Given the description of an element on the screen output the (x, y) to click on. 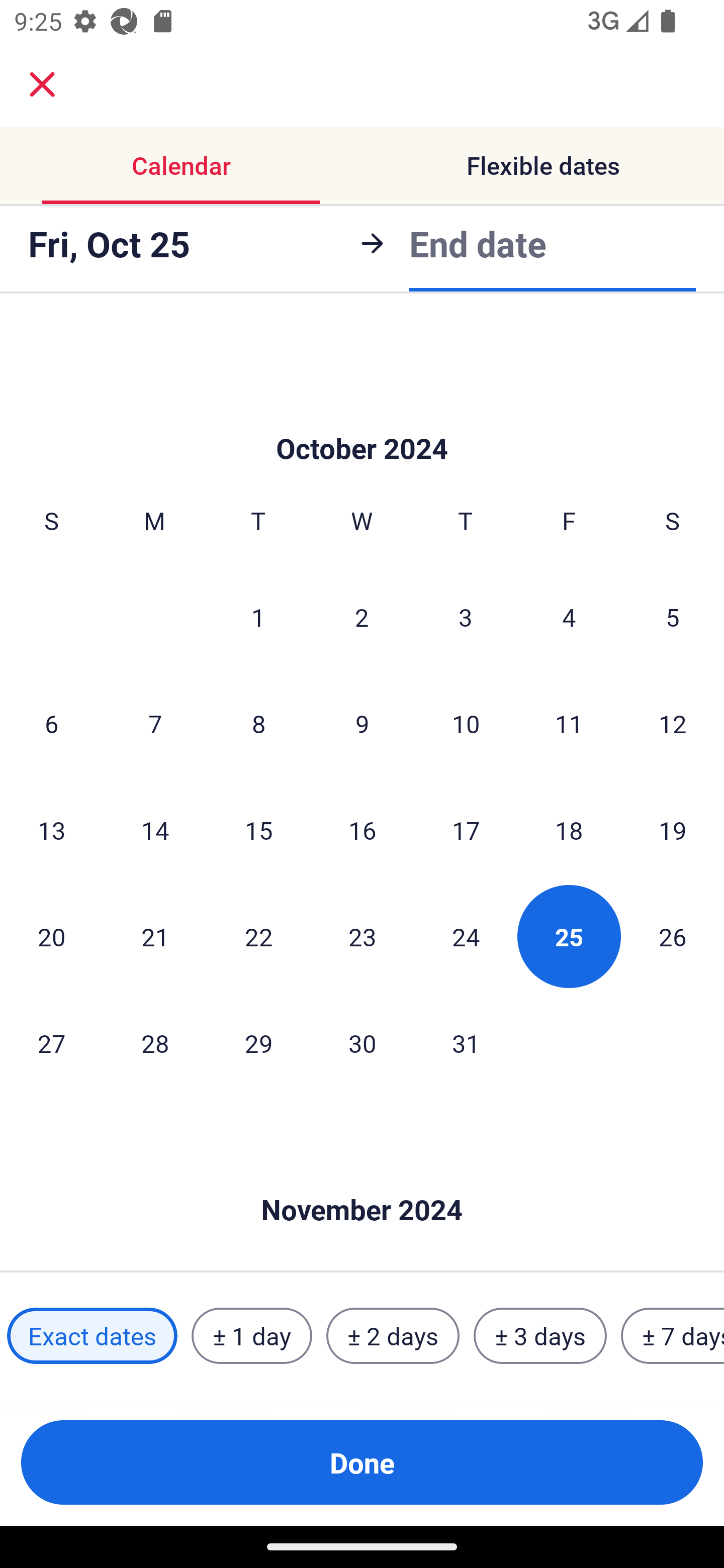
close. (42, 84)
Flexible dates (542, 164)
End date (477, 243)
Skip to Done (362, 418)
1 Tuesday, October 1, 2024 (257, 616)
2 Wednesday, October 2, 2024 (361, 616)
3 Thursday, October 3, 2024 (465, 616)
4 Friday, October 4, 2024 (569, 616)
5 Saturday, October 5, 2024 (672, 616)
6 Sunday, October 6, 2024 (51, 723)
7 Monday, October 7, 2024 (155, 723)
8 Tuesday, October 8, 2024 (258, 723)
9 Wednesday, October 9, 2024 (362, 723)
10 Thursday, October 10, 2024 (465, 723)
11 Friday, October 11, 2024 (569, 723)
12 Saturday, October 12, 2024 (672, 723)
13 Sunday, October 13, 2024 (51, 829)
14 Monday, October 14, 2024 (155, 829)
15 Tuesday, October 15, 2024 (258, 829)
16 Wednesday, October 16, 2024 (362, 829)
17 Thursday, October 17, 2024 (465, 829)
18 Friday, October 18, 2024 (569, 829)
19 Saturday, October 19, 2024 (672, 829)
20 Sunday, October 20, 2024 (51, 935)
21 Monday, October 21, 2024 (155, 935)
22 Tuesday, October 22, 2024 (258, 935)
23 Wednesday, October 23, 2024 (362, 935)
24 Thursday, October 24, 2024 (465, 935)
26 Saturday, October 26, 2024 (672, 935)
27 Sunday, October 27, 2024 (51, 1042)
28 Monday, October 28, 2024 (155, 1042)
29 Tuesday, October 29, 2024 (258, 1042)
30 Wednesday, October 30, 2024 (362, 1042)
31 Thursday, October 31, 2024 (465, 1042)
Skip to Done (362, 1179)
Exact dates (92, 1335)
± 1 day (251, 1335)
± 2 days (392, 1335)
± 3 days (539, 1335)
± 7 days (672, 1335)
Done (361, 1462)
